Given the description of an element on the screen output the (x, y) to click on. 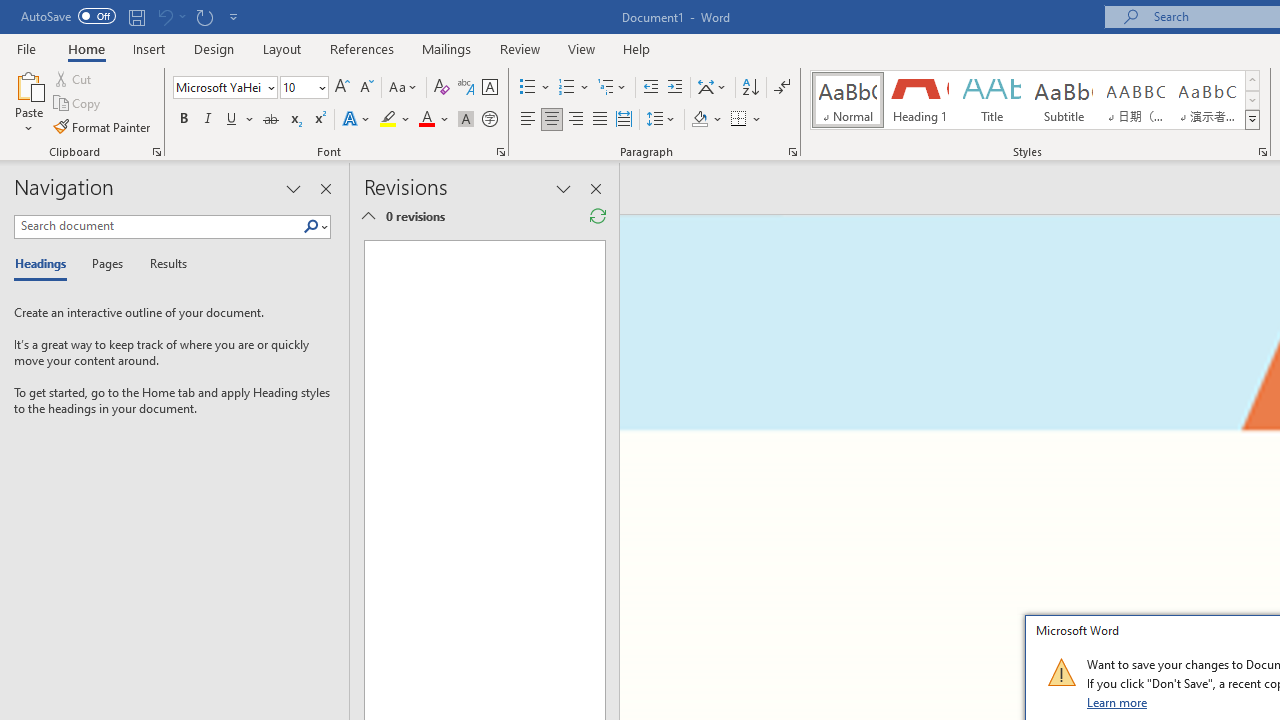
Text Highlight Color (395, 119)
Asian Layout (712, 87)
Sort... (750, 87)
Align Left (527, 119)
Styles... (1262, 151)
Line and Paragraph Spacing (661, 119)
Character Border (489, 87)
Align Right (575, 119)
Decrease Indent (650, 87)
